Given the description of an element on the screen output the (x, y) to click on. 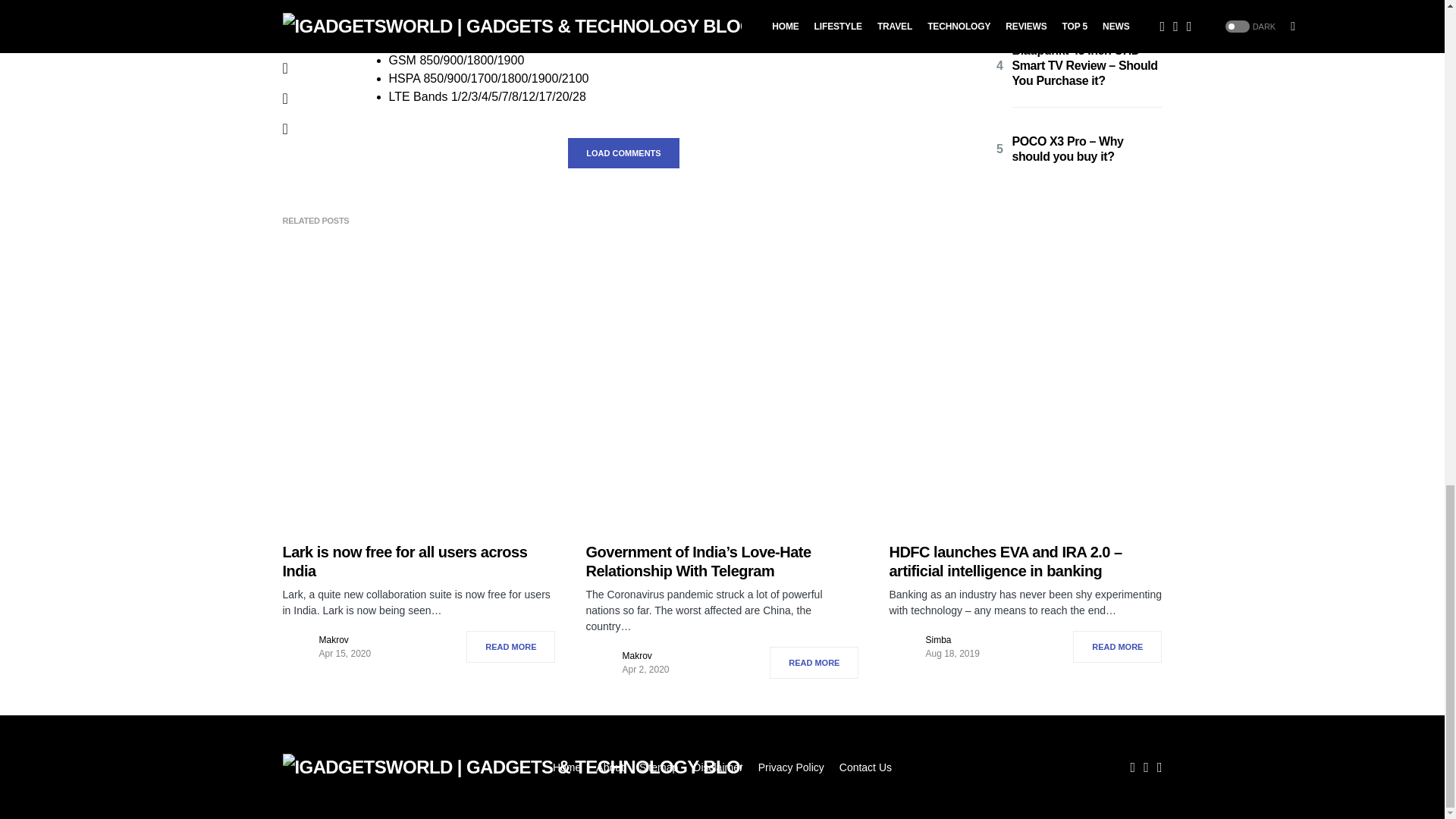
Lark is now free for all users across India - 10 (418, 387)
